Given the description of an element on the screen output the (x, y) to click on. 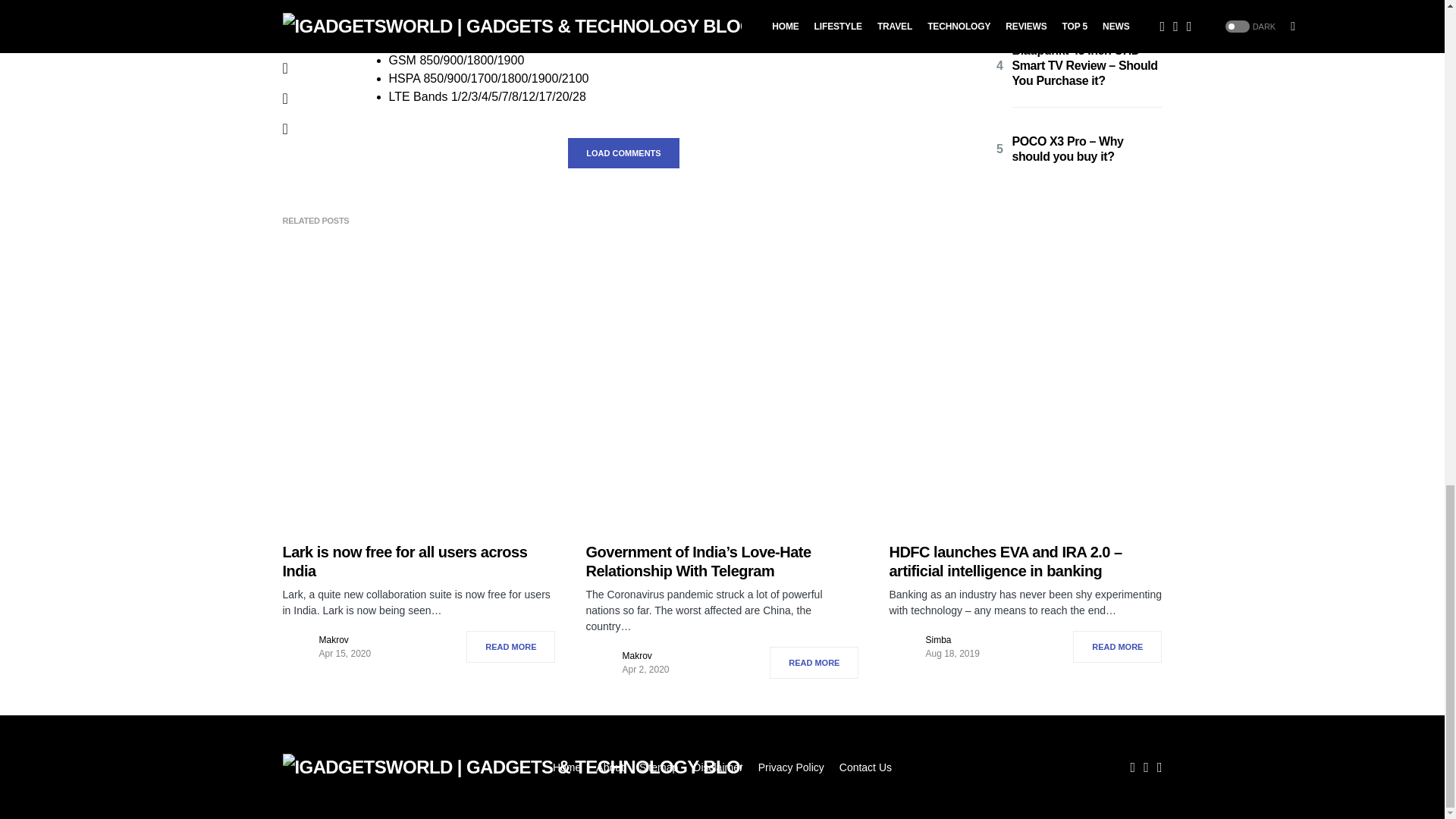
Lark is now free for all users across India - 10 (418, 387)
